Given the description of an element on the screen output the (x, y) to click on. 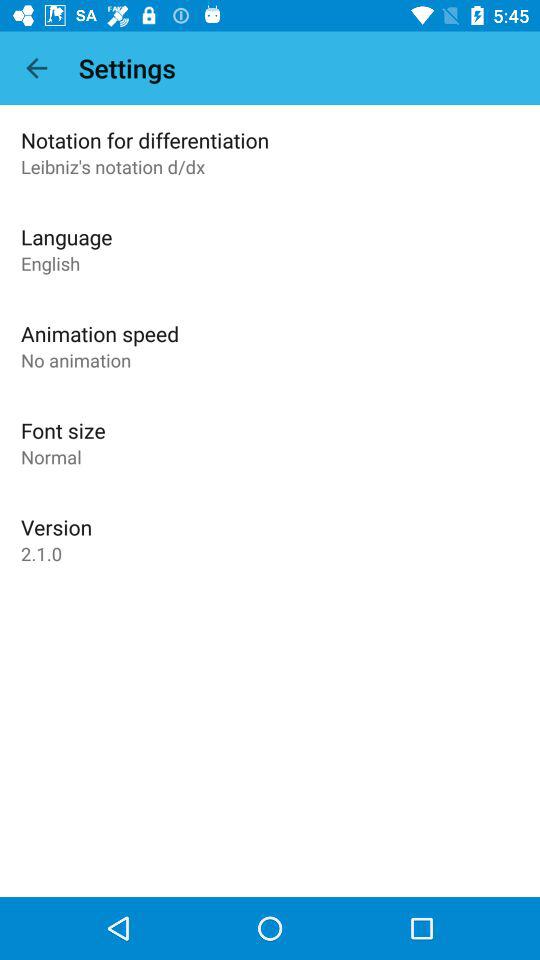
launch the item below the animation speed item (76, 360)
